Given the description of an element on the screen output the (x, y) to click on. 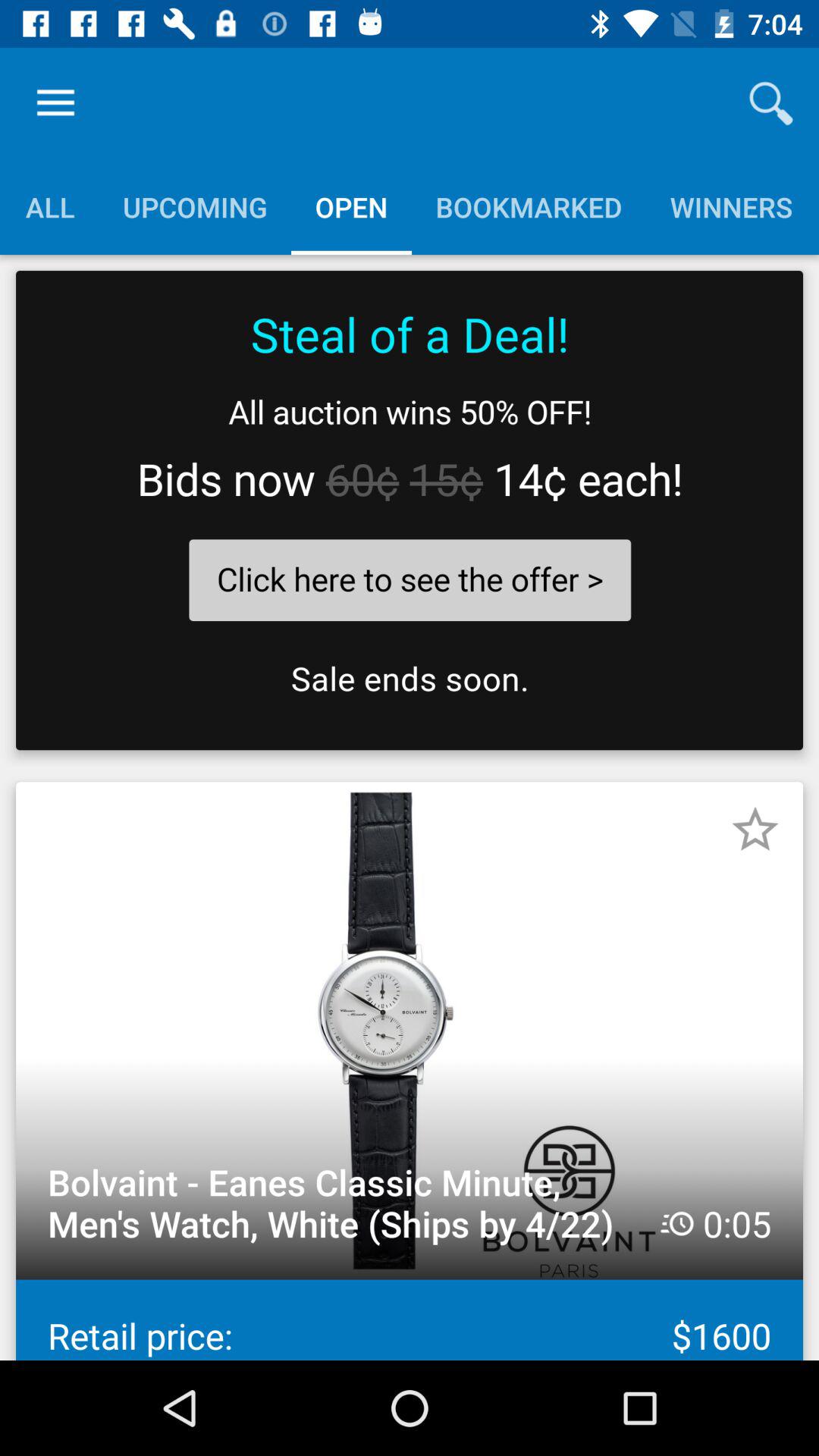
add to favorites (755, 829)
